Given the description of an element on the screen output the (x, y) to click on. 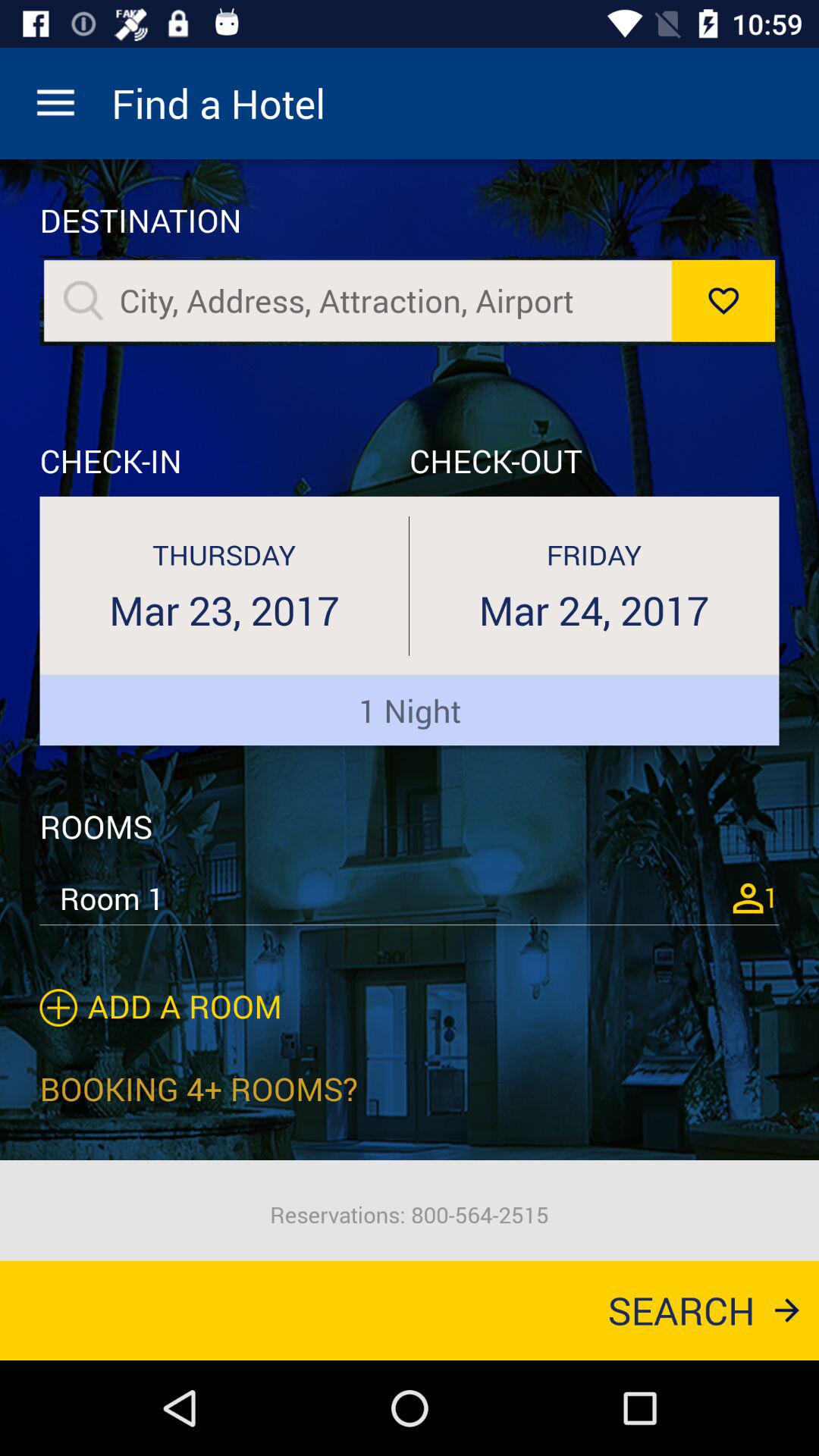
click to search box (387, 300)
